Given the description of an element on the screen output the (x, y) to click on. 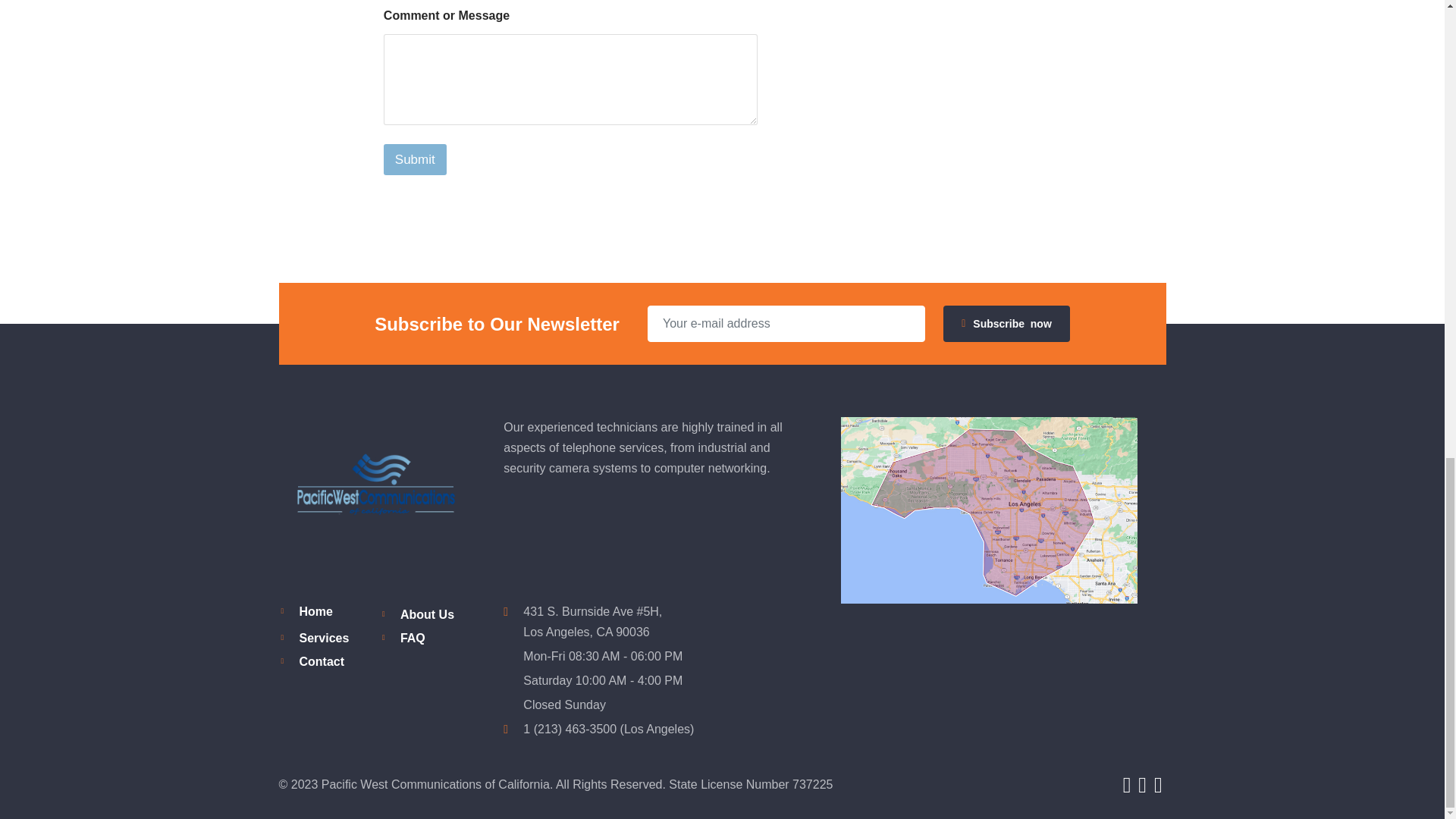
Services (323, 637)
Submit (415, 159)
FAQ (412, 637)
Home (314, 611)
Contact (320, 661)
About Us (427, 614)
